Given the description of an element on the screen output the (x, y) to click on. 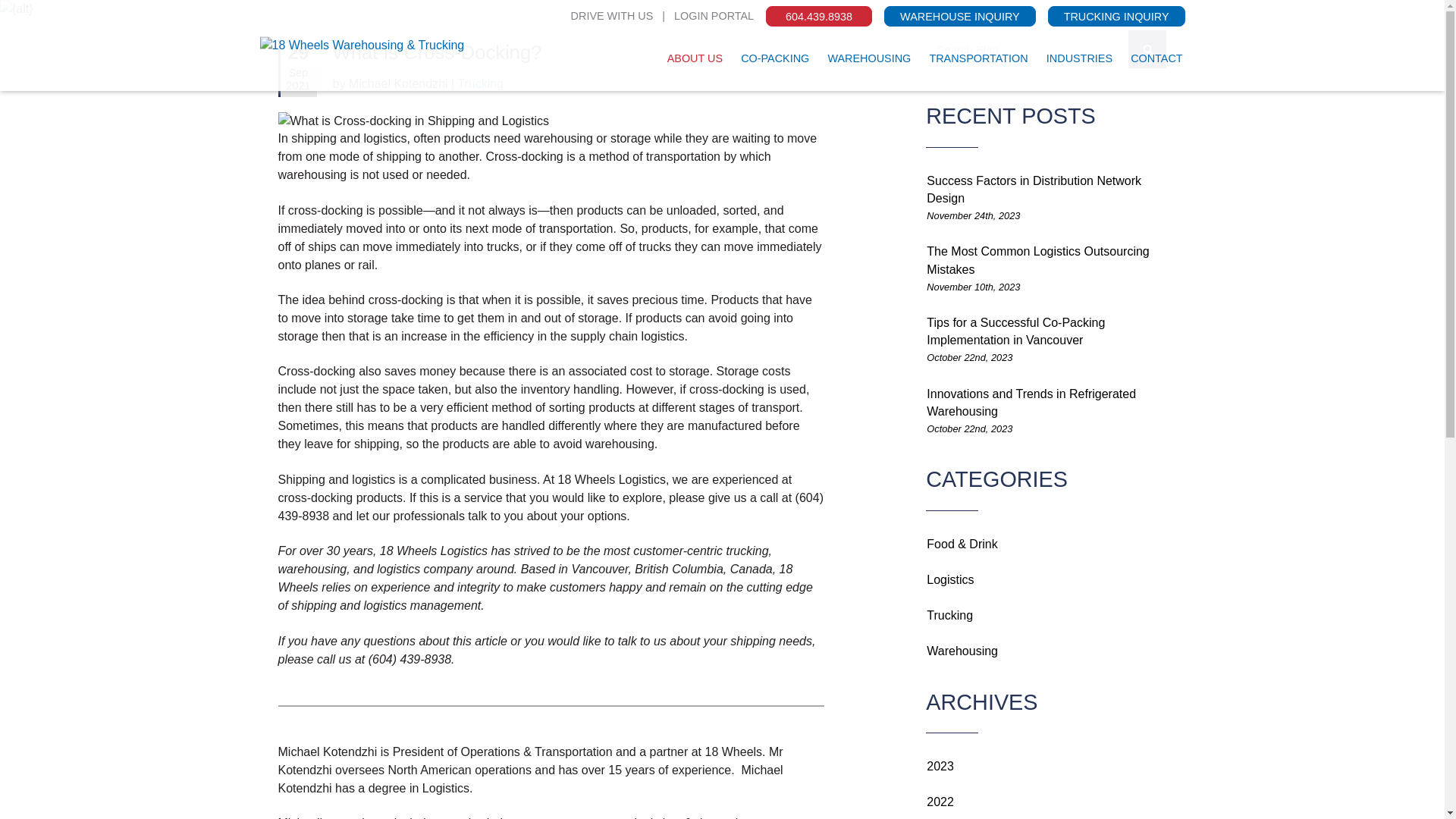
Logistics Element type: text (949, 579)
604.439.8938 Element type: text (818, 16)
DRIVE WITH US Element type: text (612, 16)
INDUSTRIES Element type: text (1079, 58)
CO-PACKING Element type: text (774, 58)
LOGIN PORTAL Element type: text (713, 16)
TRUCKING INQUIRY Element type: text (1116, 16)
Tips for a Successful Co-Packing Implementation in Vancouver Element type: text (1015, 331)
Success Factors in Distribution Network Design Element type: text (1033, 189)
WAREHOUSING Element type: text (869, 58)
CONTACT Element type: text (1156, 58)
ABOUT US Element type: text (694, 58)
The Most Common Logistics Outsourcing Mistakes Element type: text (1037, 259)
Innovations and Trends in Refrigerated Warehousing Element type: text (1030, 402)
2023 Element type: text (939, 765)
 |  Element type: text (663, 16)
Trucking Element type: text (480, 83)
TRANSPORTATION Element type: text (977, 58)
Warehousing Element type: text (961, 650)
2022 Element type: text (939, 801)
Food & Drink Element type: text (961, 543)
18 Wheels Warehousing & Trucking - Home Element type: hover (410, 45)
Trucking Element type: text (949, 614)
WAREHOUSE INQUIRY Element type: text (959, 16)
